Given the description of an element on the screen output the (x, y) to click on. 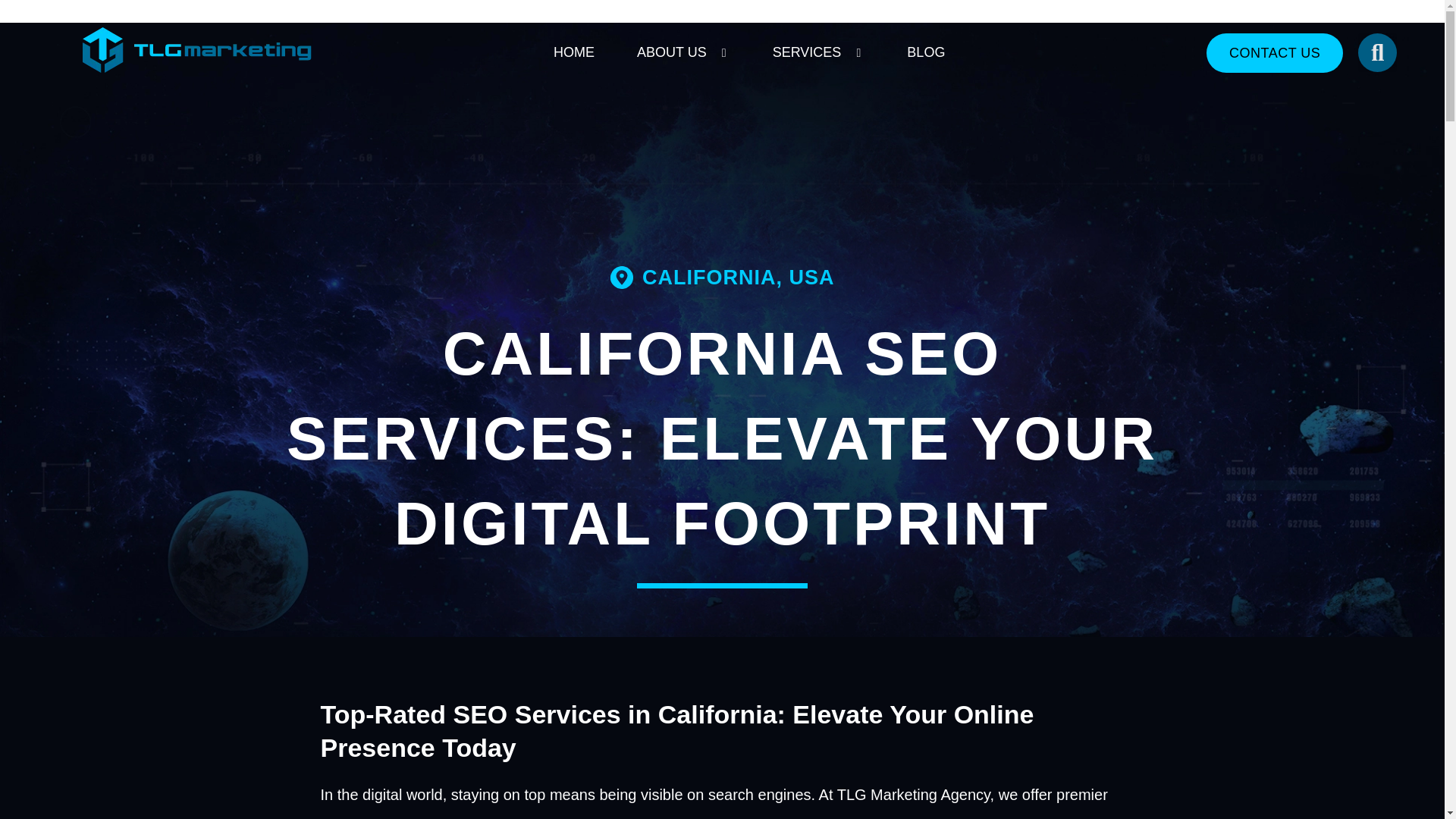
SERVICES (807, 52)
ABOUT US (671, 52)
HOME (573, 52)
